Given the description of an element on the screen output the (x, y) to click on. 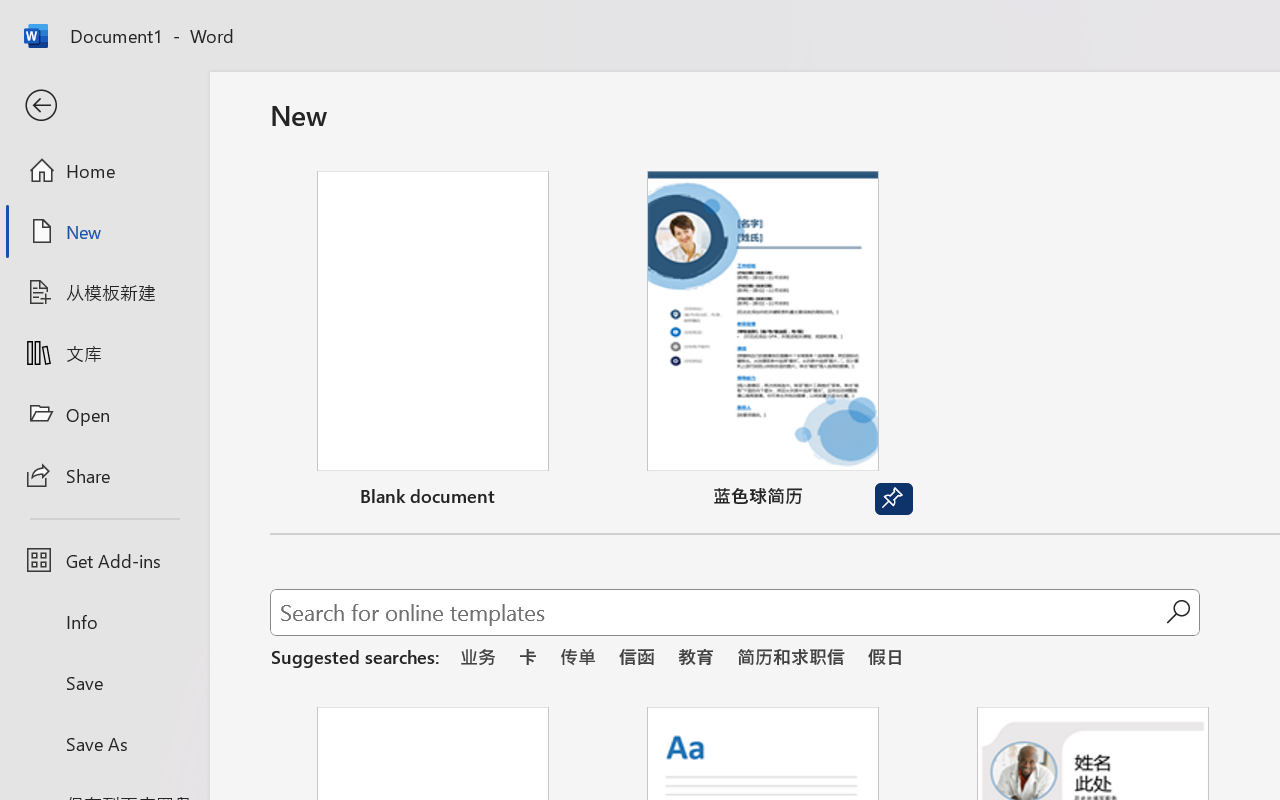
Back (104, 106)
Get Add-ins (104, 560)
Unpin from list (893, 499)
New (104, 231)
Blank document (433, 343)
